Given the description of an element on the screen output the (x, y) to click on. 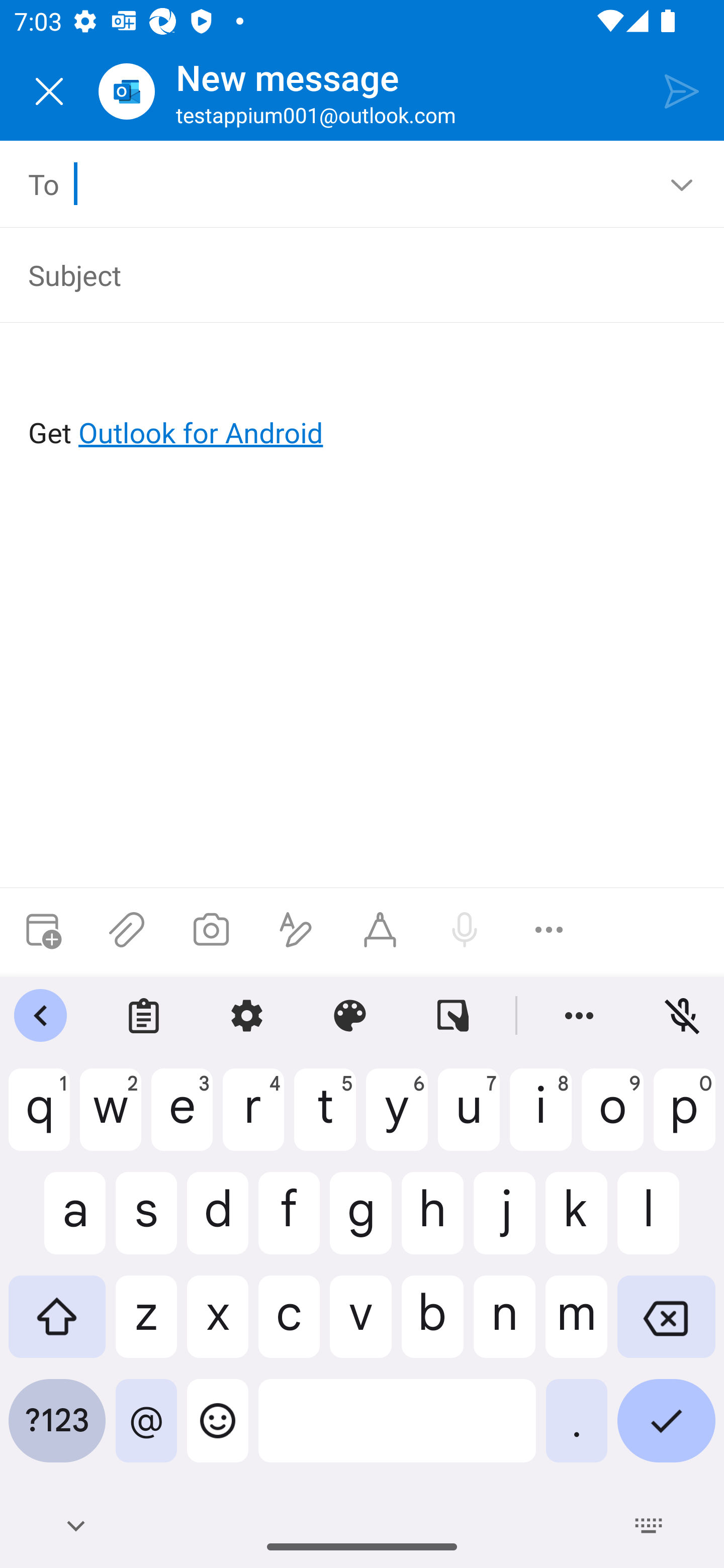
Close (49, 91)
Send (681, 90)
Subject (347, 274)


Get Outlook for Android (363, 400)
Attach meeting (42, 929)
Attach files (126, 929)
Take a photo (210, 929)
Show formatting options (295, 929)
Start Ink compose (380, 929)
More options (548, 929)
